Given the description of an element on the screen output the (x, y) to click on. 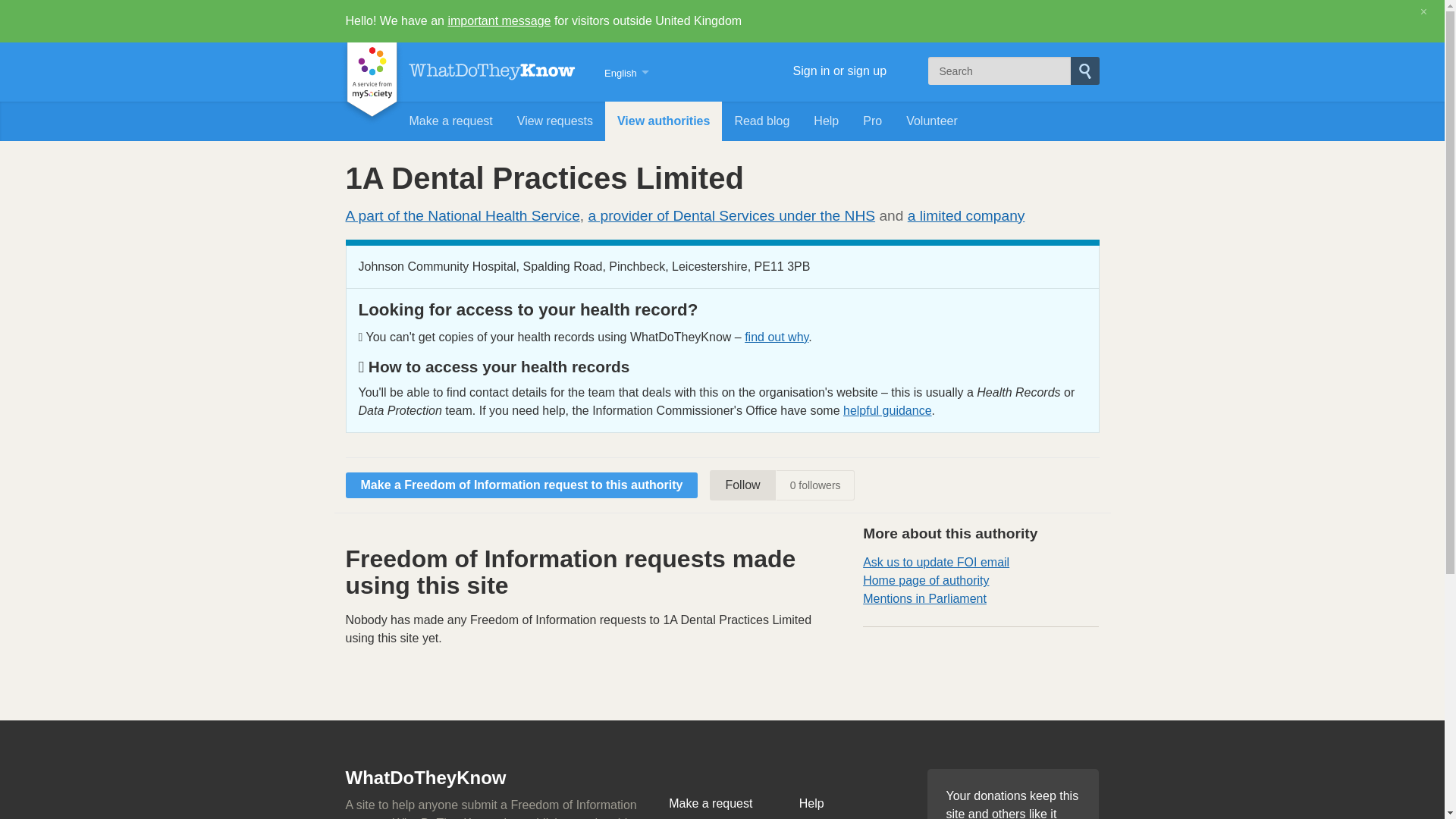
WhatDoTheyKnow (491, 72)
type your search term here (999, 70)
Follow (742, 485)
Contact us (852, 817)
View authorities (663, 120)
Home page of authority (925, 580)
Help (852, 803)
Browse requests (721, 817)
Make a request (721, 803)
Pro (871, 120)
